Given the description of an element on the screen output the (x, y) to click on. 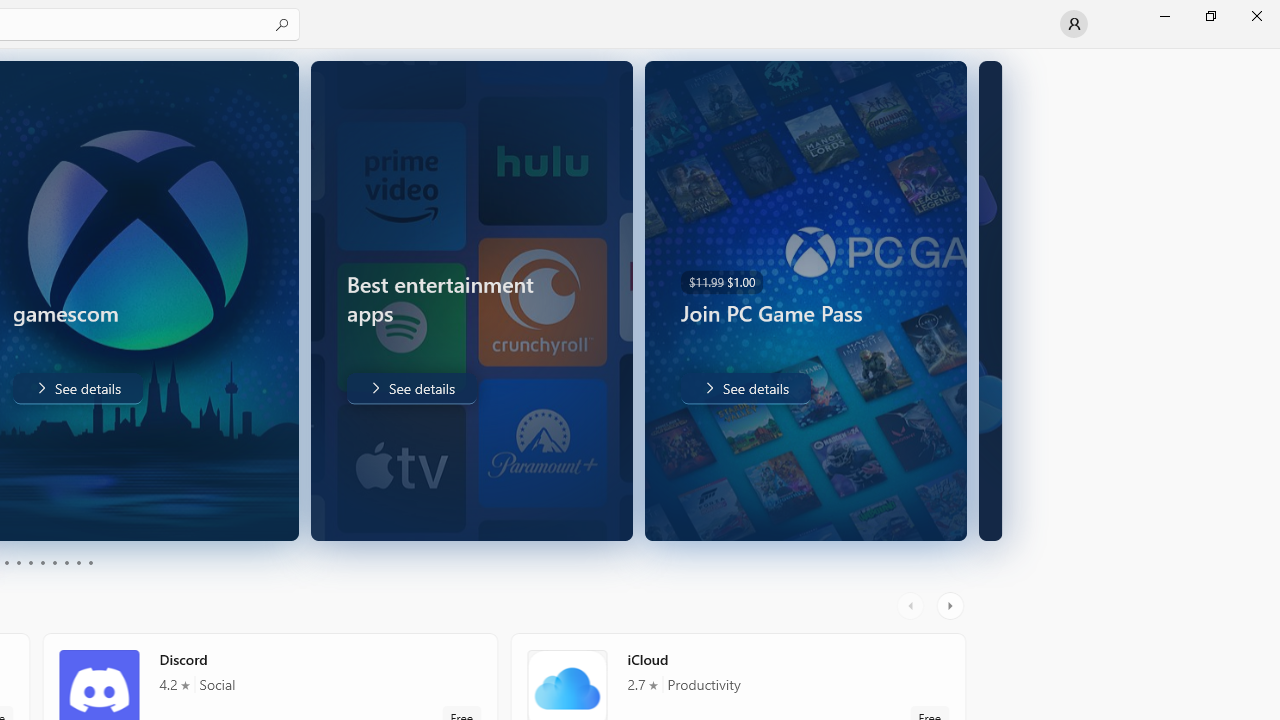
Page 3 (5, 562)
Page 9 (77, 562)
Page 4 (17, 562)
Page 6 (41, 562)
AutomationID: LeftScrollButton (913, 606)
Page 5 (29, 562)
Page 10 (90, 562)
AutomationID: RightScrollButton (952, 606)
AutomationID: Image (978, 300)
Page 8 (65, 562)
